Given the description of an element on the screen output the (x, y) to click on. 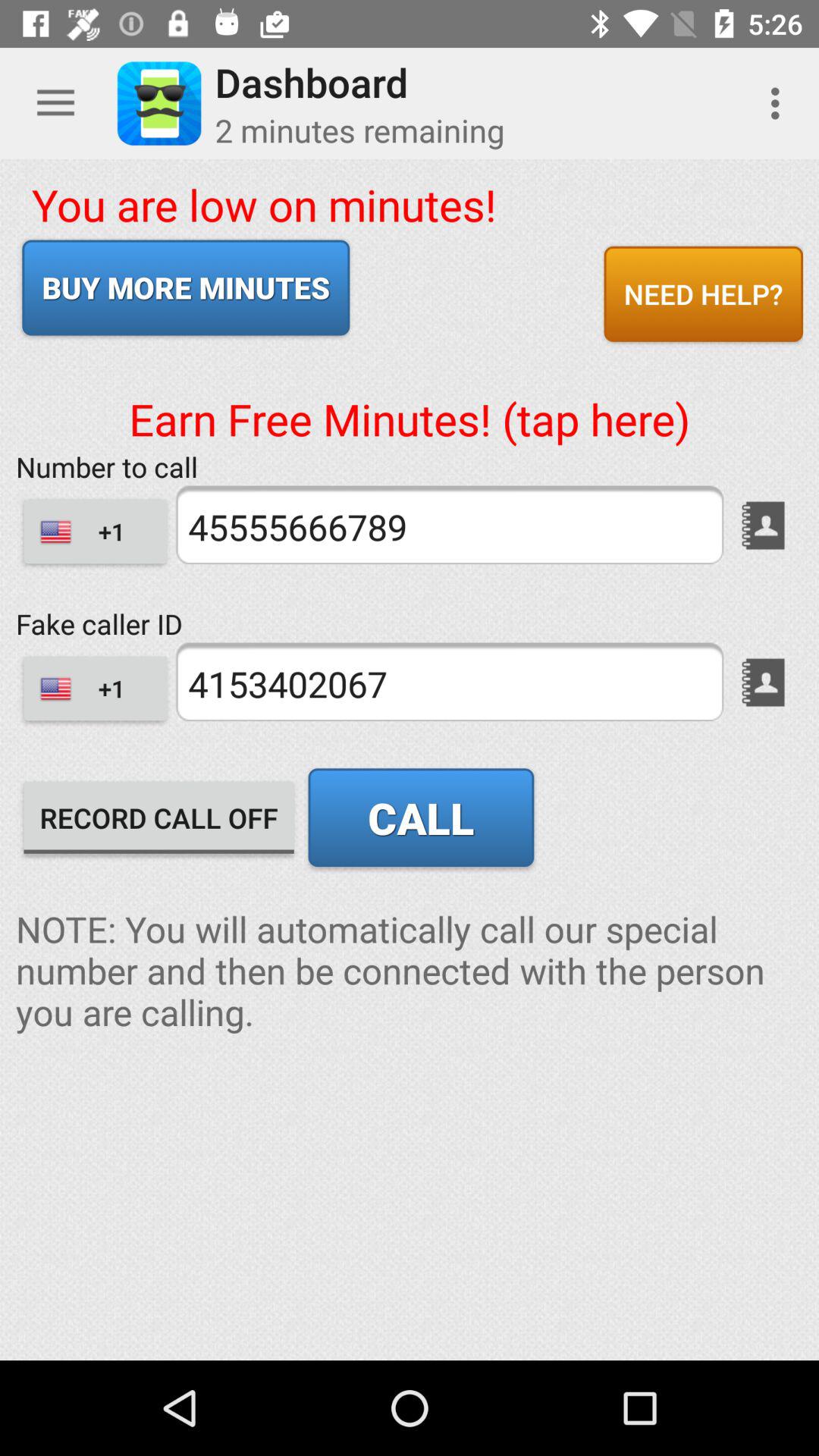
click to see profile (763, 682)
